Given the description of an element on the screen output the (x, y) to click on. 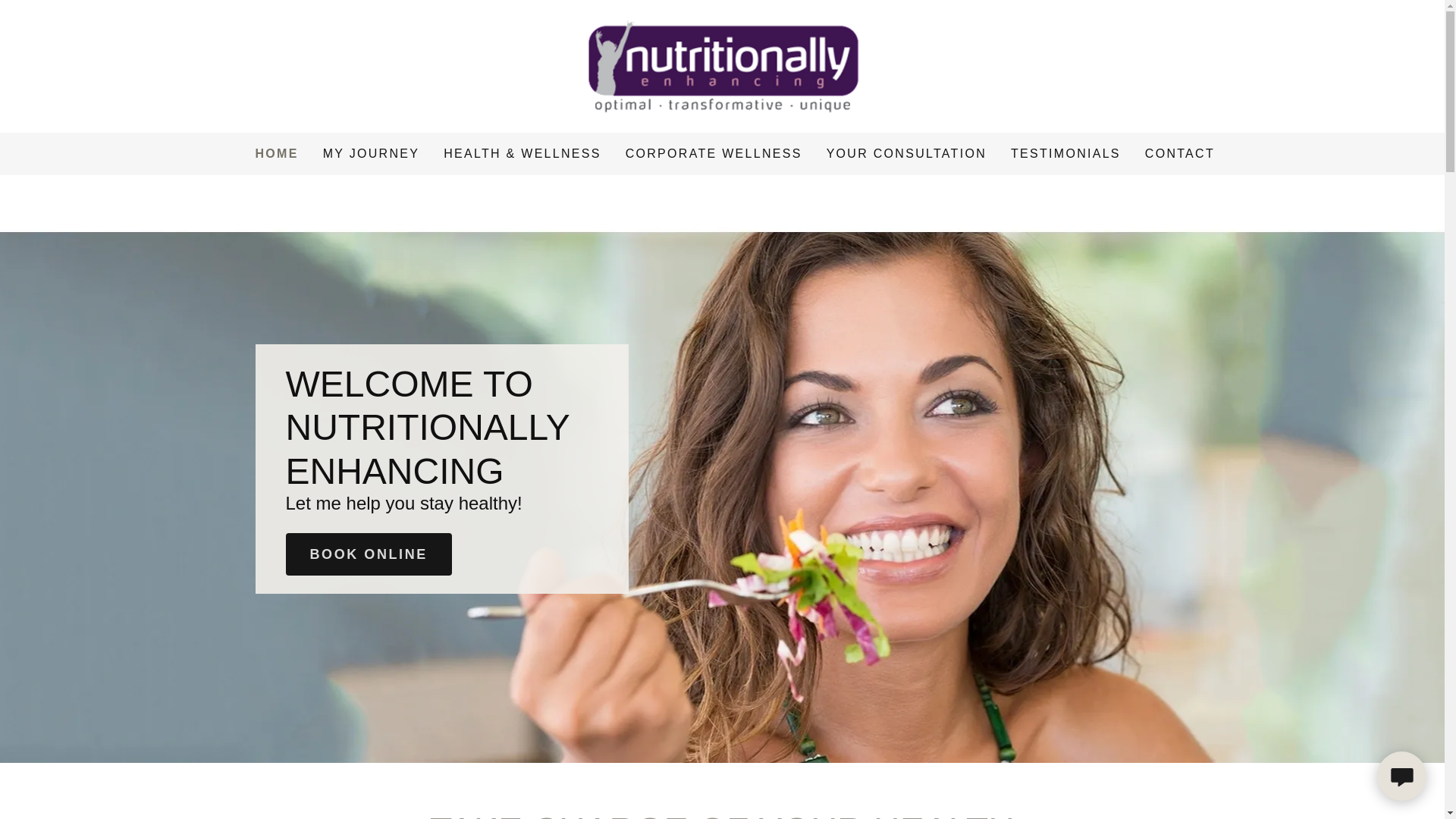
BOOK ONLINE (368, 554)
CONTACT (1180, 153)
YOUR CONSULTATION (906, 153)
MY JOURNEY (371, 153)
TESTIMONIALS (1065, 153)
CORPORATE WELLNESS (713, 153)
HOME (276, 153)
Nutritionally Enhancing (722, 64)
